Given the description of an element on the screen output the (x, y) to click on. 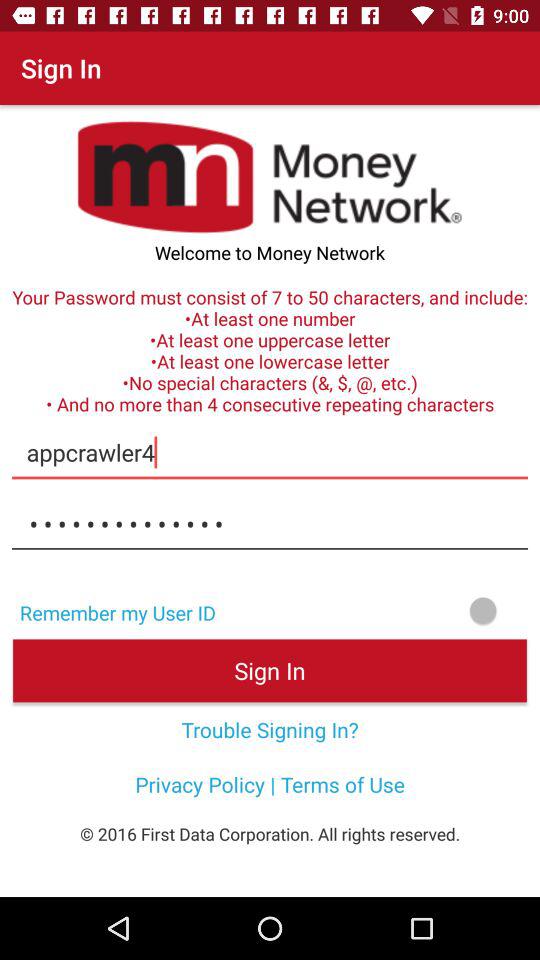
tap icon above the sign in item (384, 610)
